Given the description of an element on the screen output the (x, y) to click on. 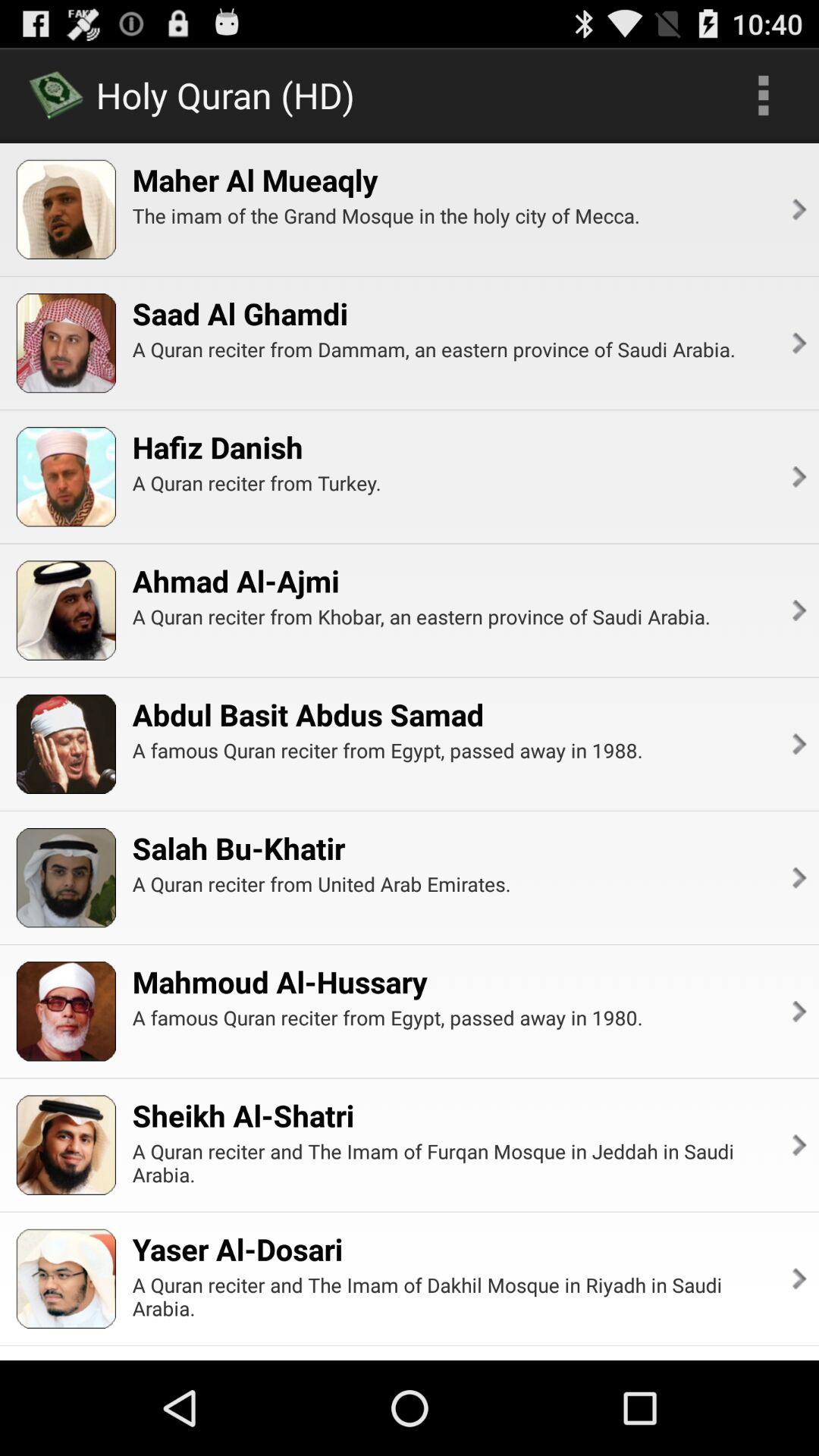
turn on the item next to a quran reciter (797, 342)
